Given the description of an element on the screen output the (x, y) to click on. 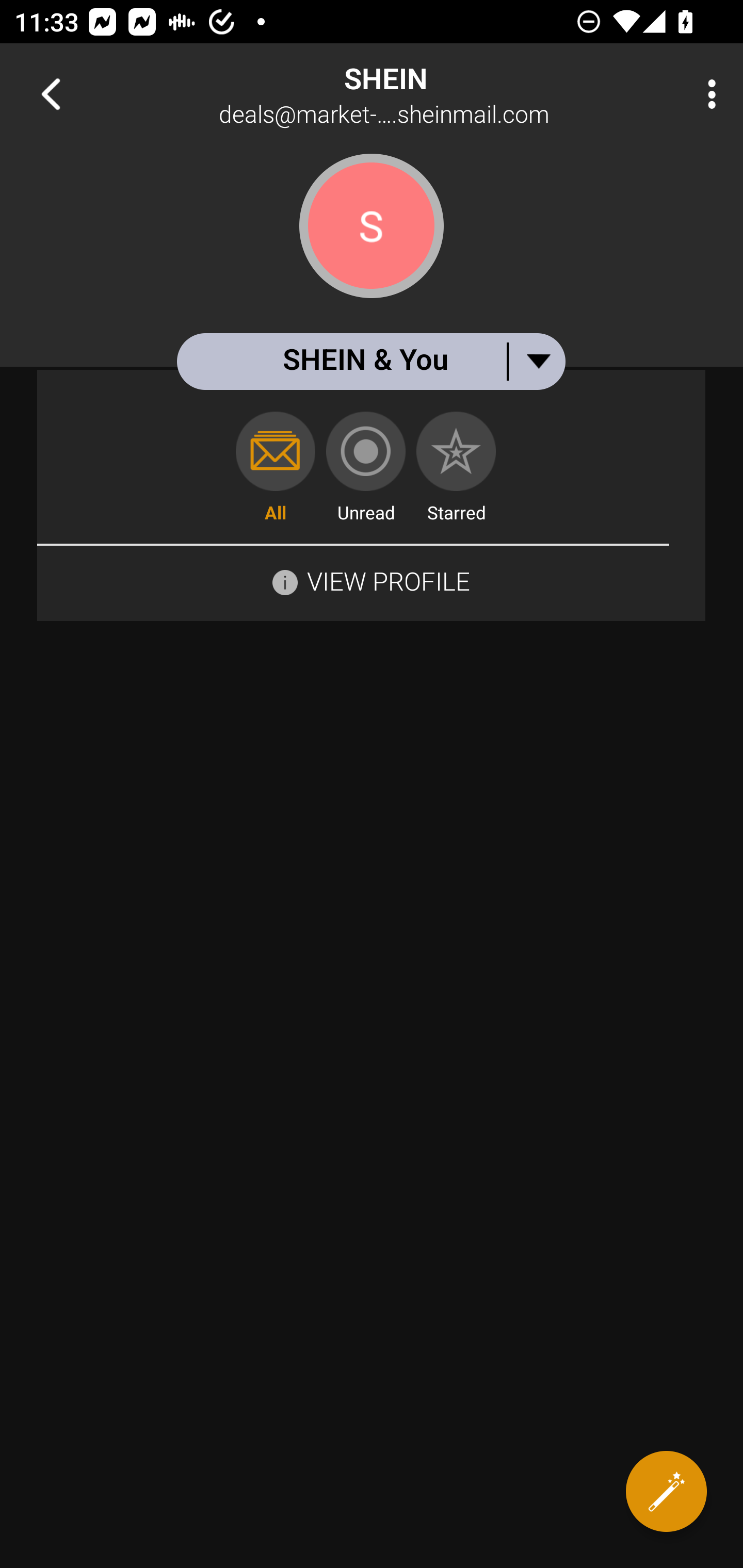
VIEW PROFILE (371, 580)
VIEW PROFILE (388, 580)
